Given the description of an element on the screen output the (x, y) to click on. 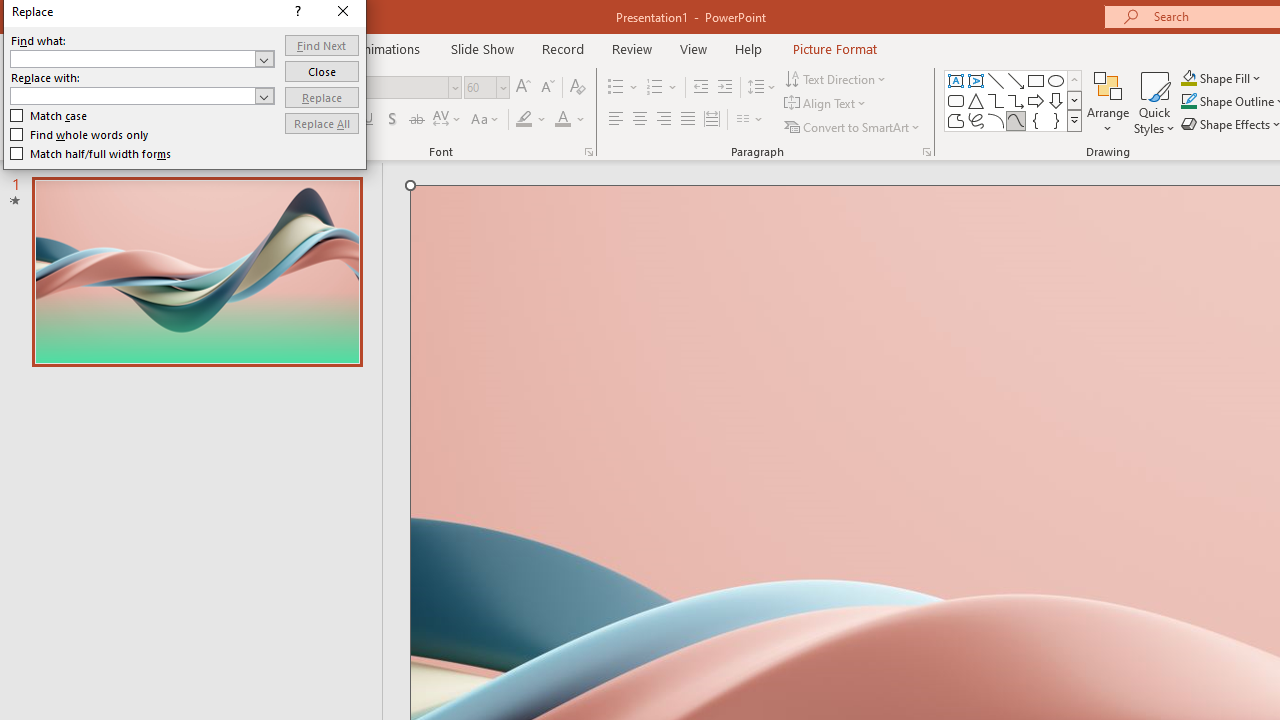
Shape Fill Orange, Accent 2 (1188, 78)
Shape Outline Blue, Accent 1 (1188, 101)
Match case (49, 115)
Replace (321, 96)
